Given the description of an element on the screen output the (x, y) to click on. 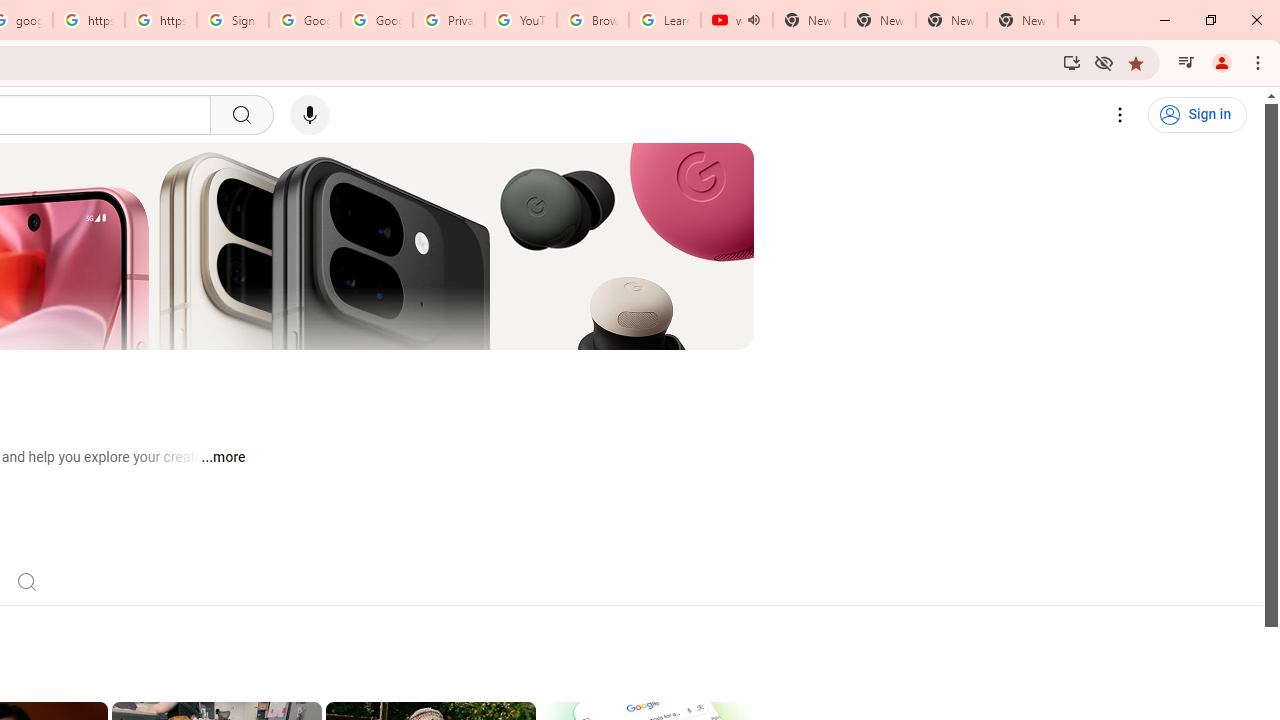
YouTube (520, 20)
Mute tab (753, 20)
Control your music, videos, and more (1185, 62)
Search (26, 580)
Install YouTube (1071, 62)
Minimize (1165, 20)
Search with your voice (309, 115)
Sign in - Google Accounts (232, 20)
Third-party cookies blocked (1103, 62)
Sign in (1197, 115)
Settings (1119, 115)
Chrome (1260, 62)
